Given the description of an element on the screen output the (x, y) to click on. 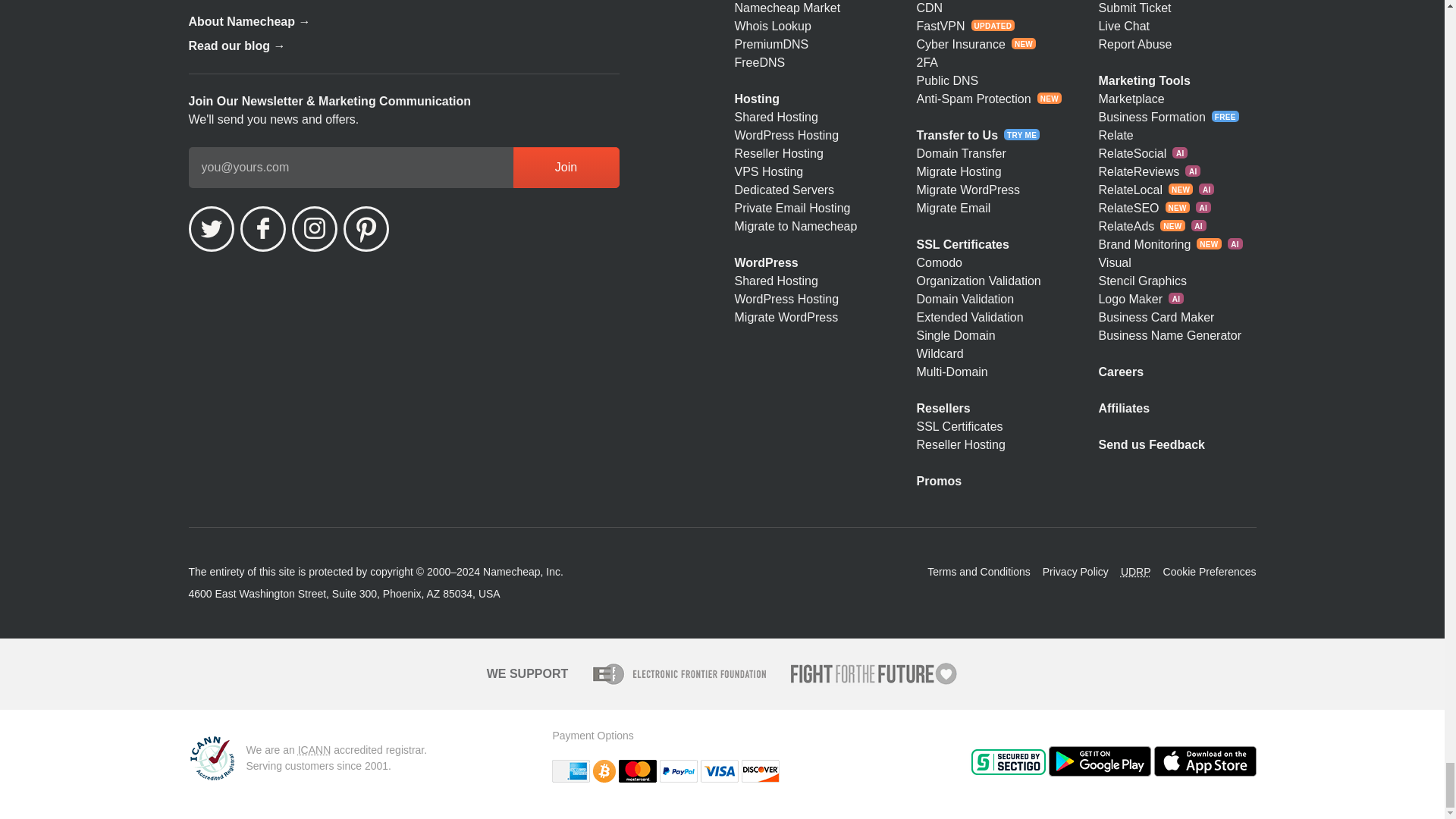
Internet Corporation for Assigned Names and Numbers (314, 749)
Twitter (209, 228)
Uniform Domain Name Dispute Resolution Policy (1136, 571)
American Express (570, 771)
Instagram (313, 228)
PayPal (678, 771)
Visa (719, 771)
iOS App Store (1205, 761)
Facebook (262, 228)
Bitcoin (603, 771)
MasterCard (637, 771)
Pinterest (365, 228)
Android app on google play (1099, 761)
Discover (759, 771)
